Given the description of an element on the screen output the (x, y) to click on. 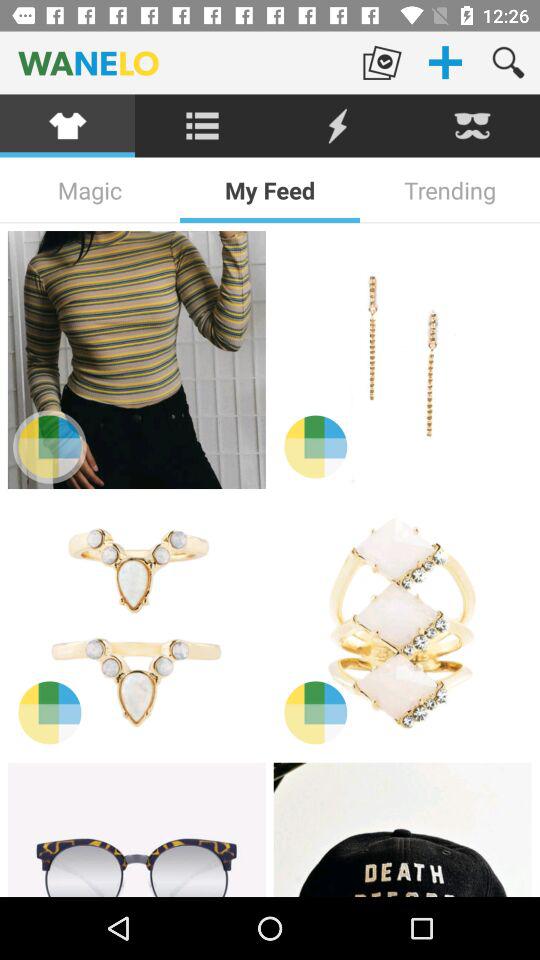
launch icon next to the magic item (270, 190)
